Given the description of an element on the screen output the (x, y) to click on. 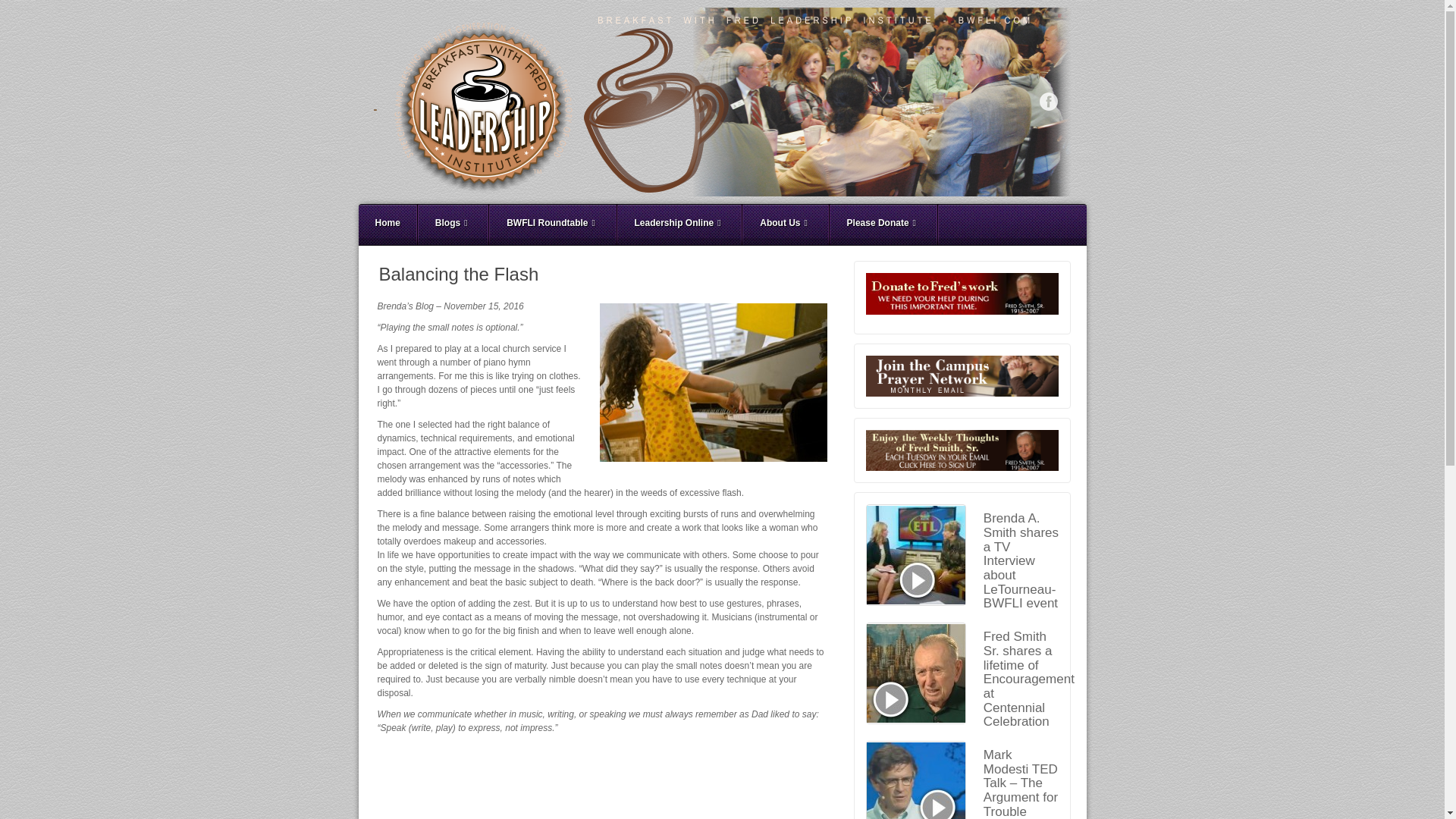
BWFLI (721, 101)
BWFLI Roundtable (552, 224)
Leadership Online (679, 224)
About Us (785, 224)
Facebook (1048, 101)
Please Donate (883, 224)
Home (387, 224)
Facebook (1048, 101)
